Given the description of an element on the screen output the (x, y) to click on. 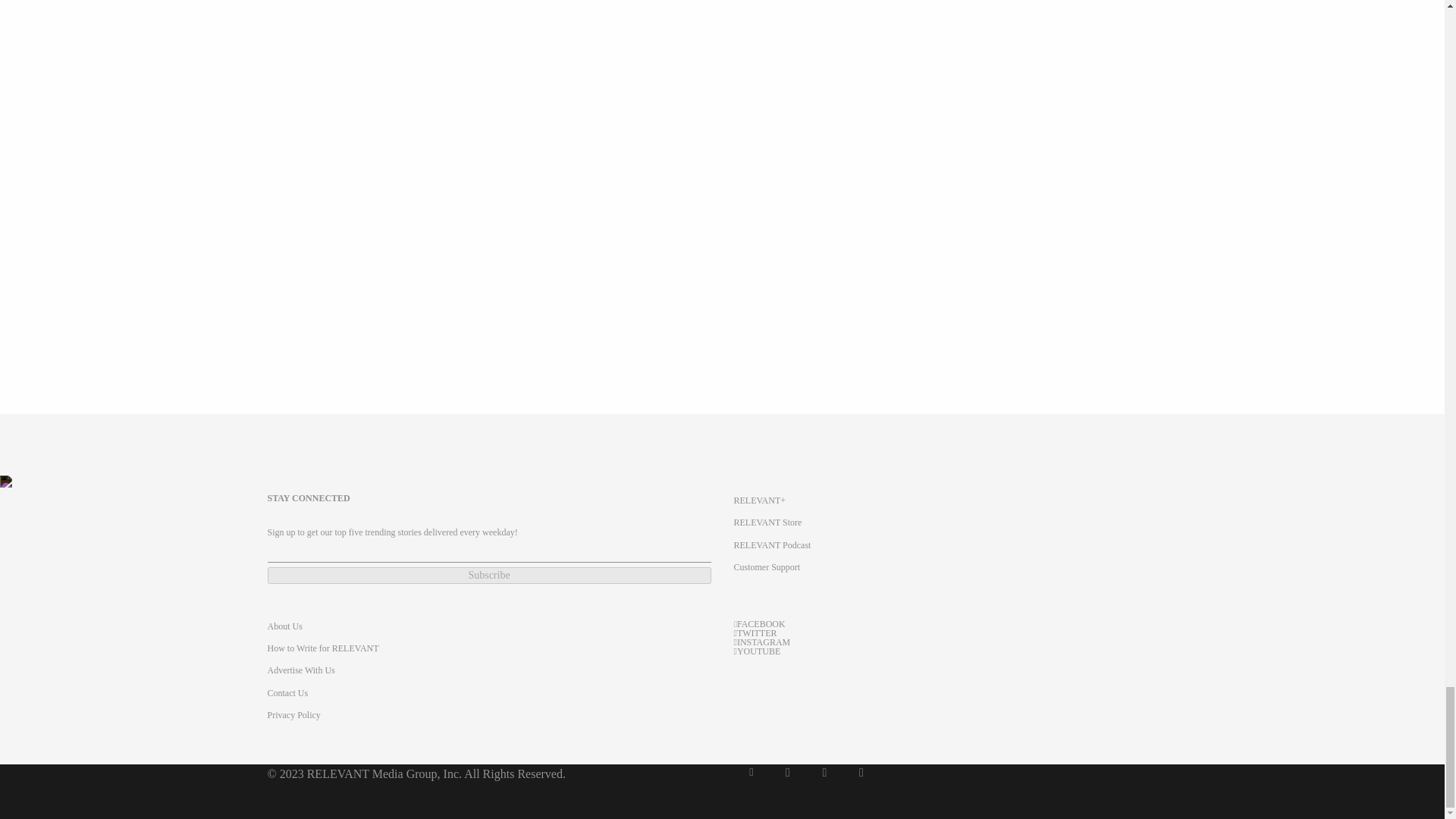
Subscribe (488, 575)
